Given the description of an element on the screen output the (x, y) to click on. 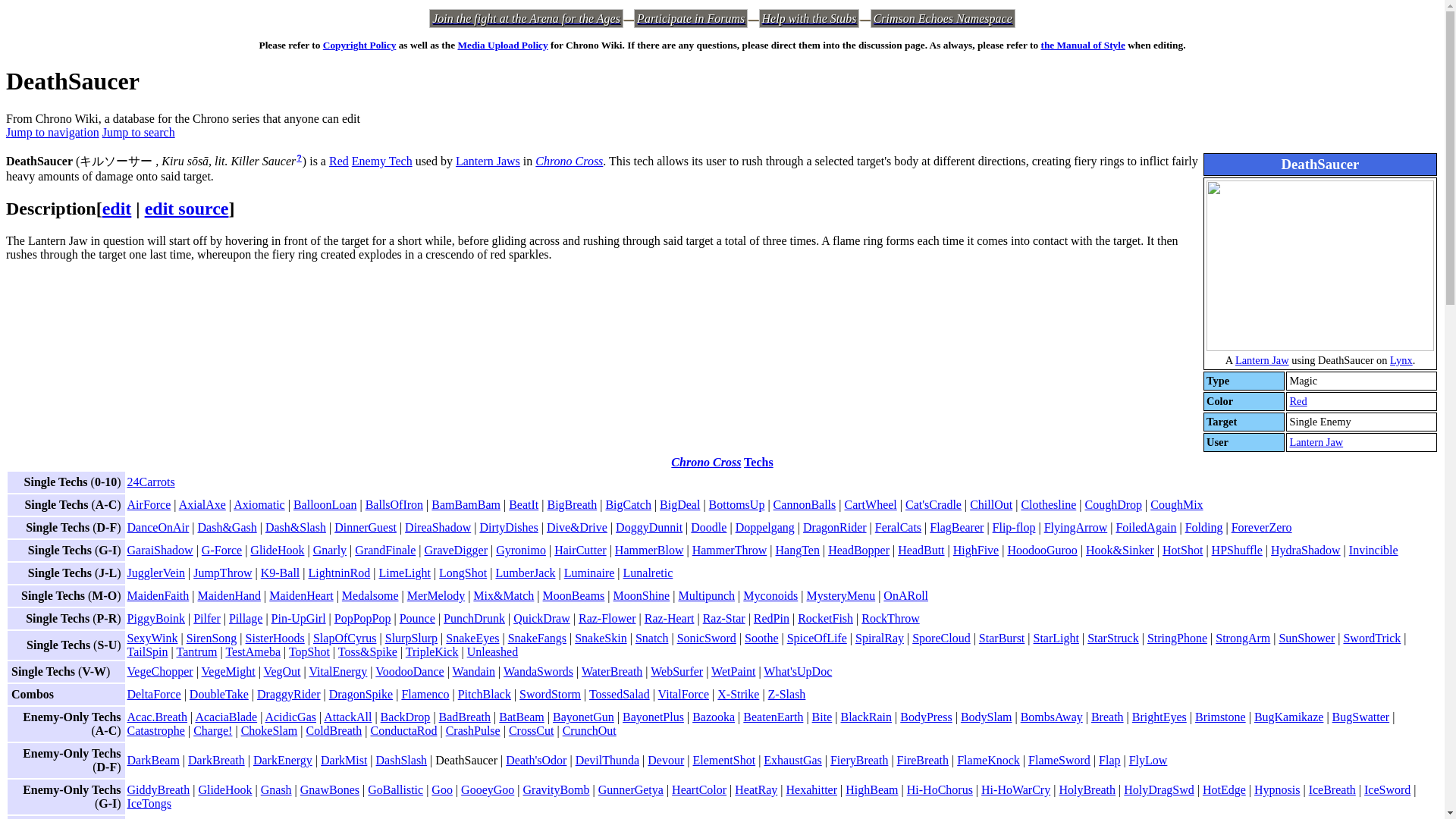
Lantern Jaw (1261, 359)
BigDeal (679, 504)
Red (1297, 400)
Chrono Wiki:Media (502, 44)
CannonBalls (804, 504)
Edit section: Description (116, 208)
Media Upload Policy (502, 44)
edit (116, 208)
Lantern Jaw (1315, 441)
Help with the Stubs (809, 18)
Axiomatic (258, 504)
BigBreath (571, 504)
Forum:Index (690, 18)
Chrono Wiki:Arena for the Ages (526, 18)
AxialAxe (202, 504)
